Given the description of an element on the screen output the (x, y) to click on. 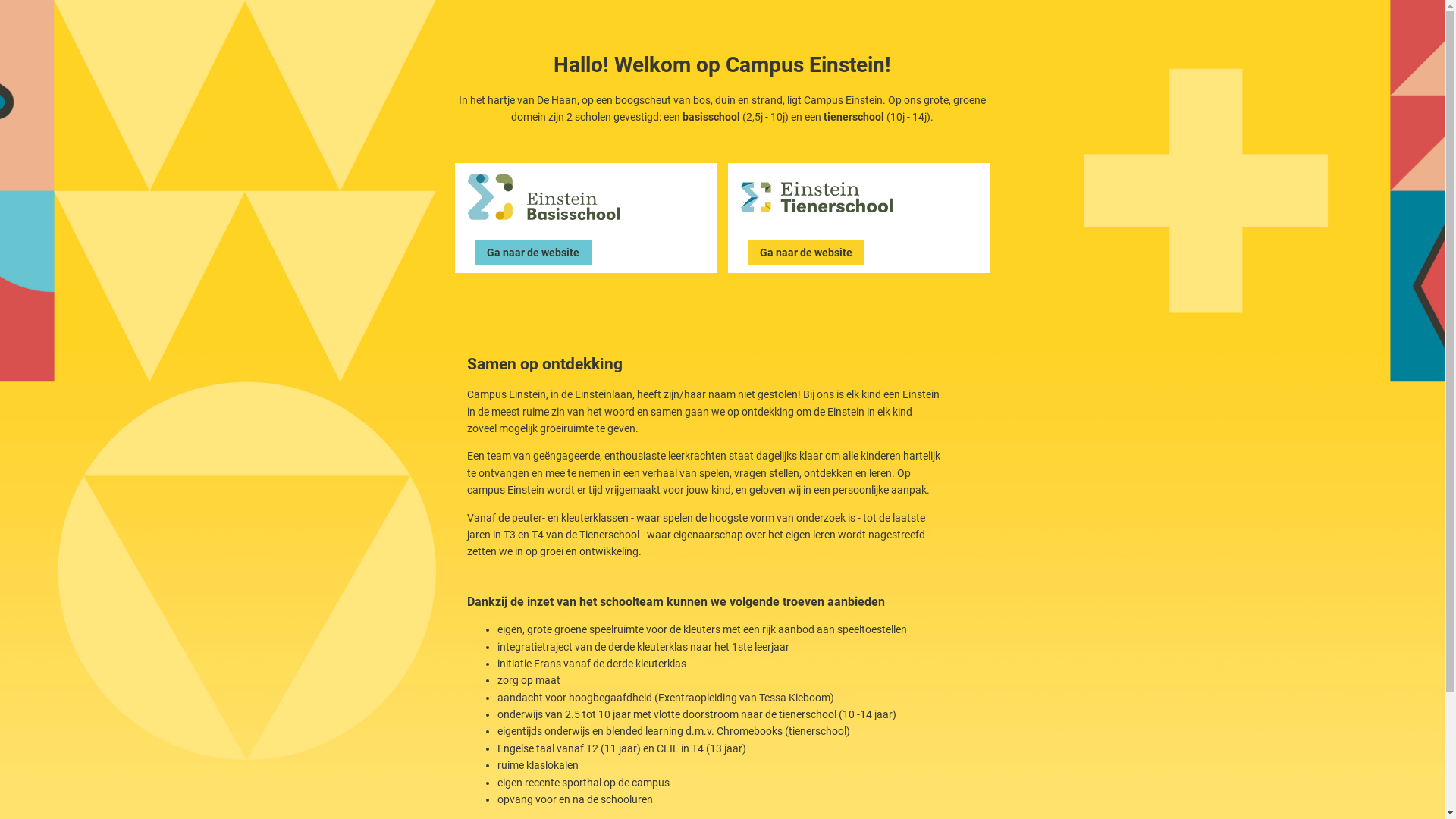
Logo Einstein Tienerschool Element type: hover (816, 196)
Logo Einstein Basisschool Element type: hover (543, 196)
Ga naar de website Element type: text (805, 252)
Ga naar de website Element type: text (532, 252)
